Given the description of an element on the screen output the (x, y) to click on. 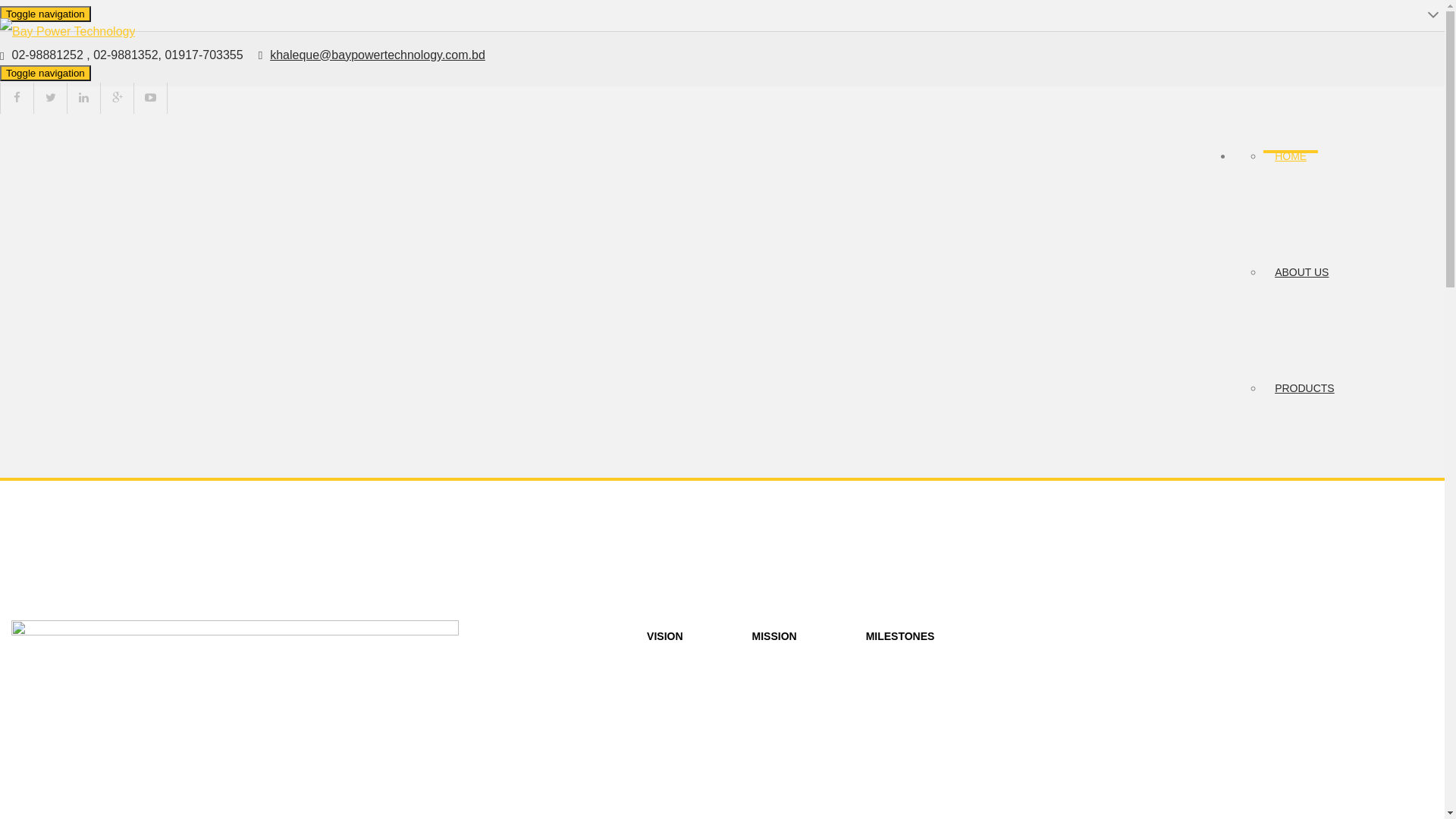
PORTFOLIO Element type: text (1305, 701)
HOME Element type: text (1290, 156)
MILESTONES Element type: text (900, 636)
Toggle navigation Element type: text (45, 73)
PRODUCTS Element type: text (1304, 388)
tank-up-transformer Element type: hover (234, 716)
khaleque@baypowertechnology.com.bd Element type: text (377, 54)
ABOUT US Element type: text (1301, 272)
Toggle navigation Element type: text (45, 13)
Customer Satisfaction Element type: hover (67, 44)
MISSION Element type: text (774, 636)
VISION Element type: text (664, 636)
